Given the description of an element on the screen output the (x, y) to click on. 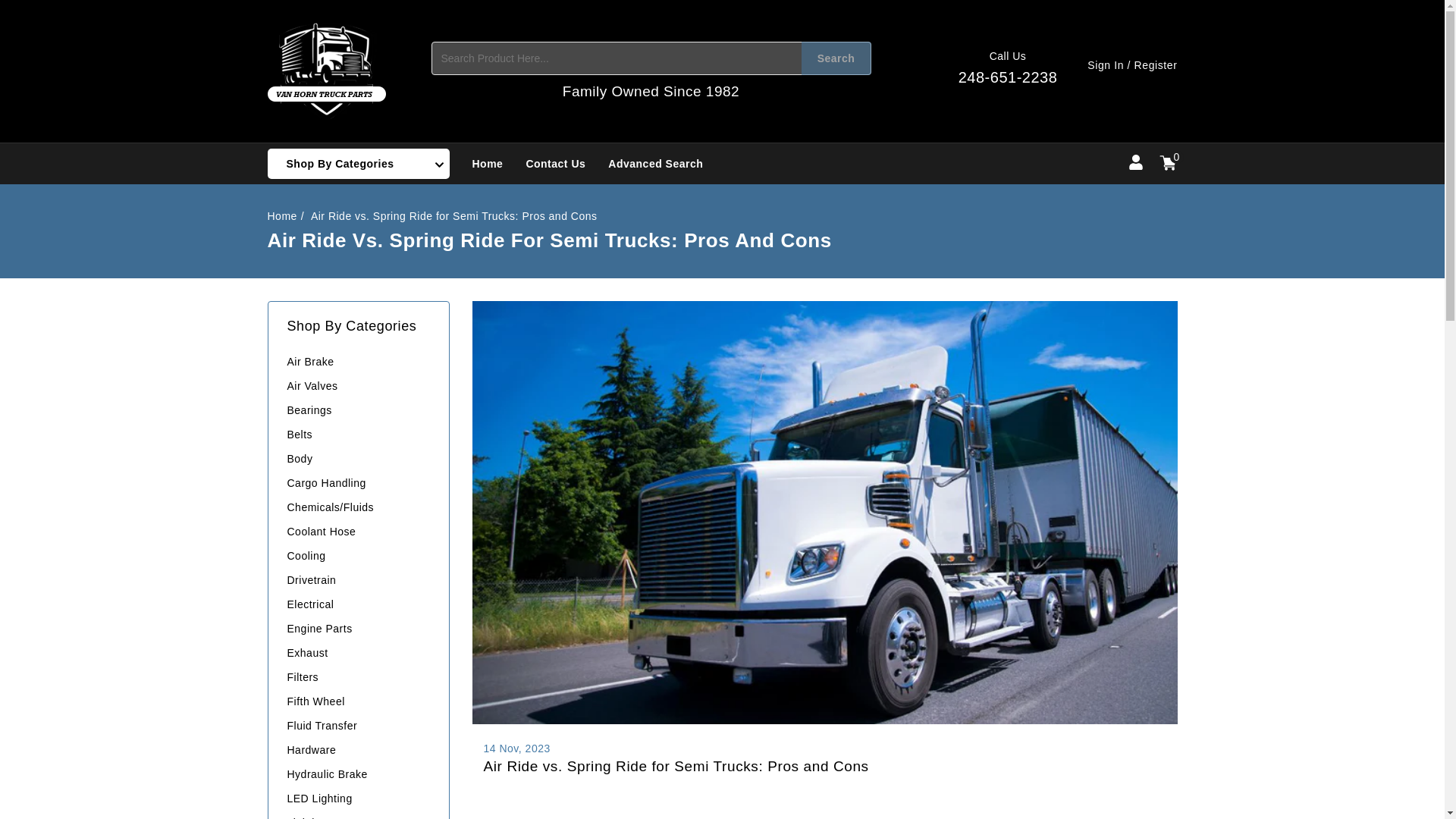
Skip To Content (23, 7)
Home (1008, 70)
Search (286, 215)
